Given the description of an element on the screen output the (x, y) to click on. 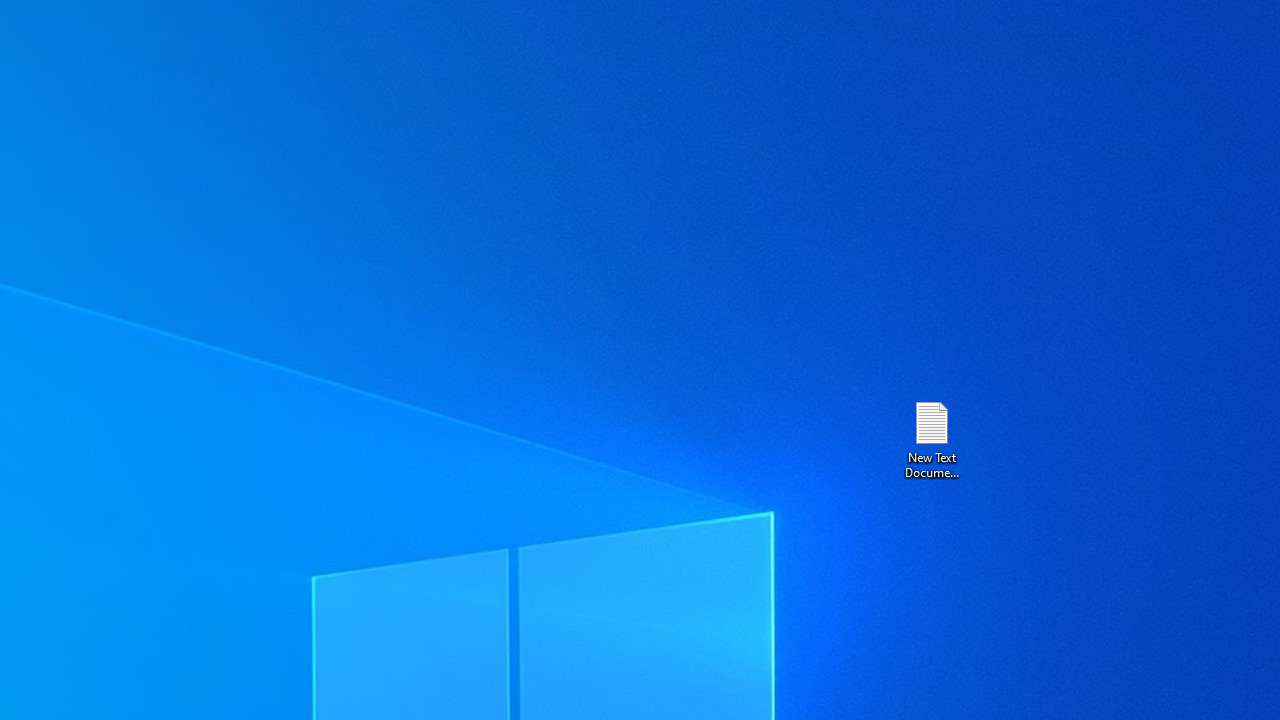
New Text Document (2) (931, 438)
